Given the description of an element on the screen output the (x, y) to click on. 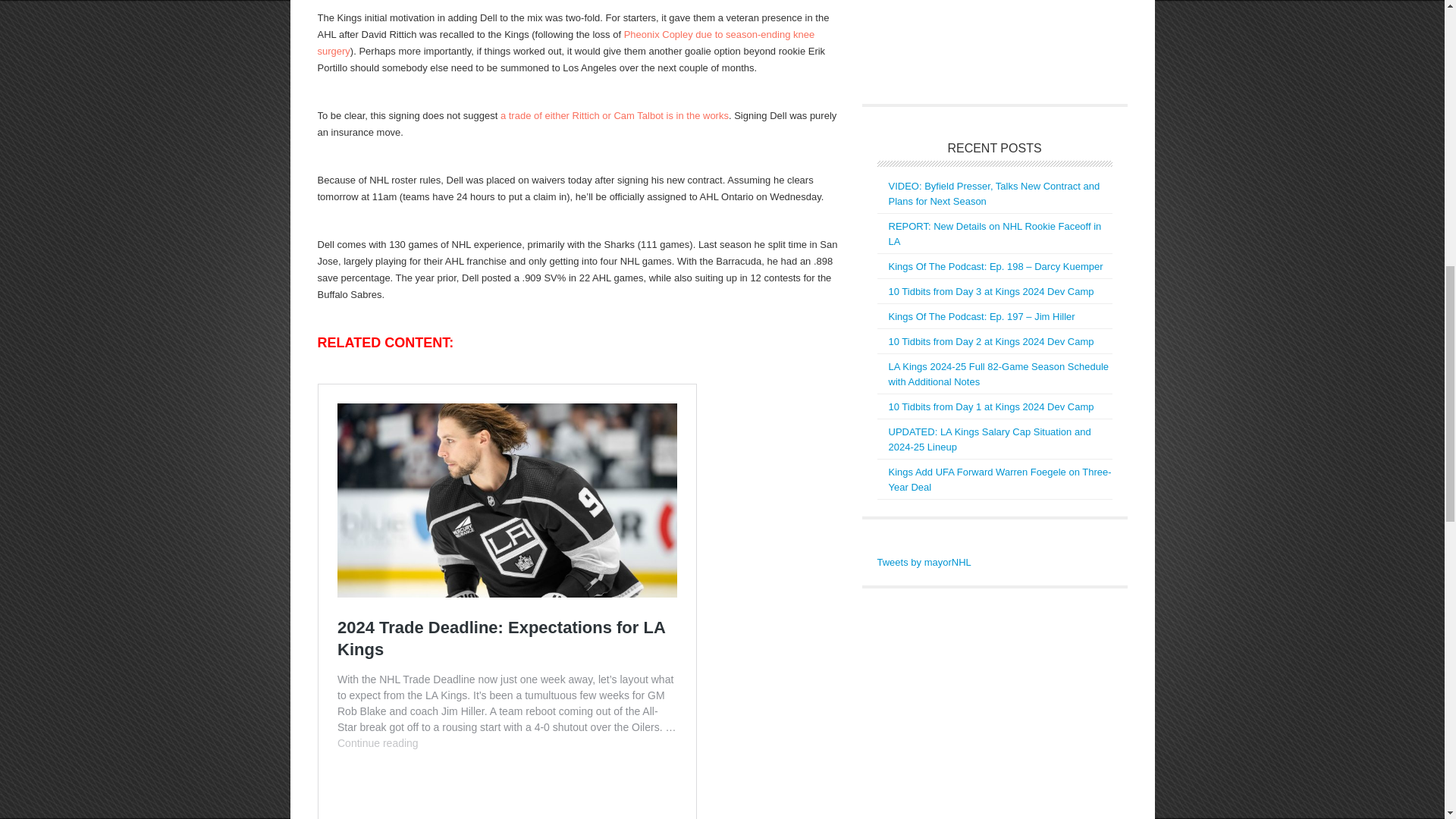
a trade of either Rittich or Cam Talbot is in the works (614, 115)
Pheonix Copley due to season-ending knee surgery (565, 42)
3rd party ad content (989, 44)
